Given the description of an element on the screen output the (x, y) to click on. 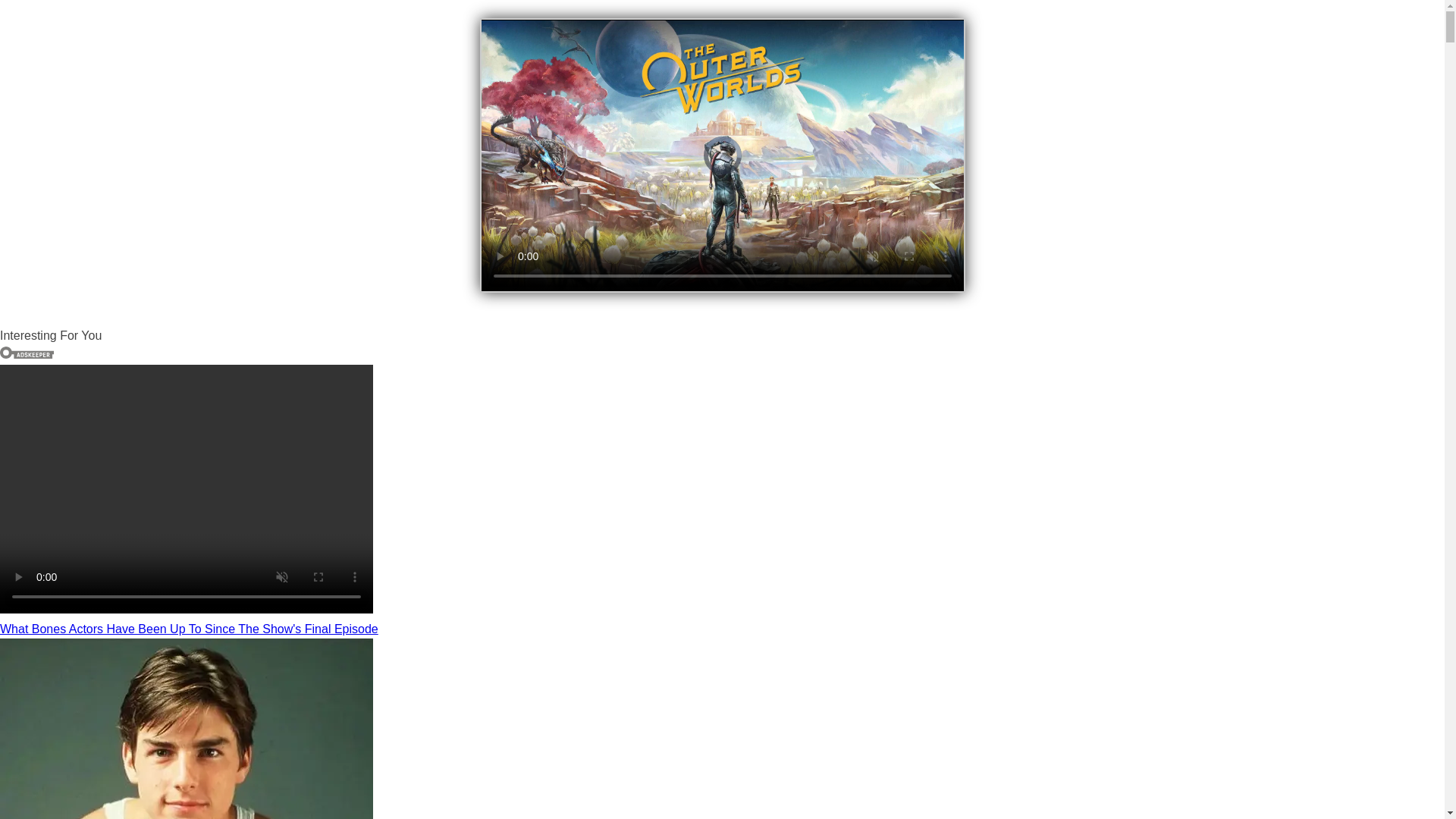
Close (947, 30)
Close (947, 30)
